Given the description of an element on the screen output the (x, y) to click on. 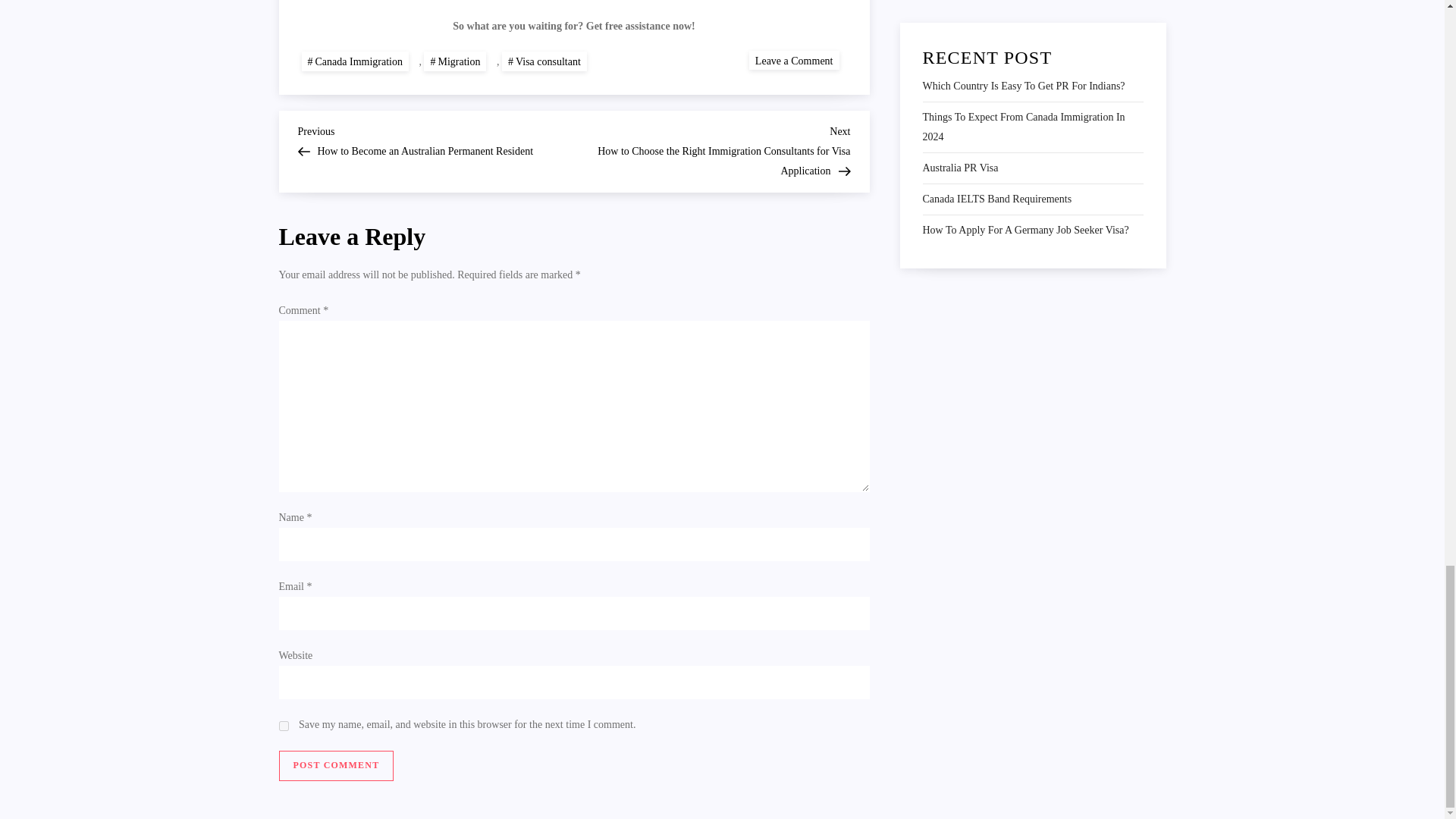
Migration (454, 61)
Post Comment (336, 766)
Visa consultant (544, 61)
yes (283, 726)
Post Comment (336, 766)
Canada Immigration (794, 59)
